Given the description of an element on the screen output the (x, y) to click on. 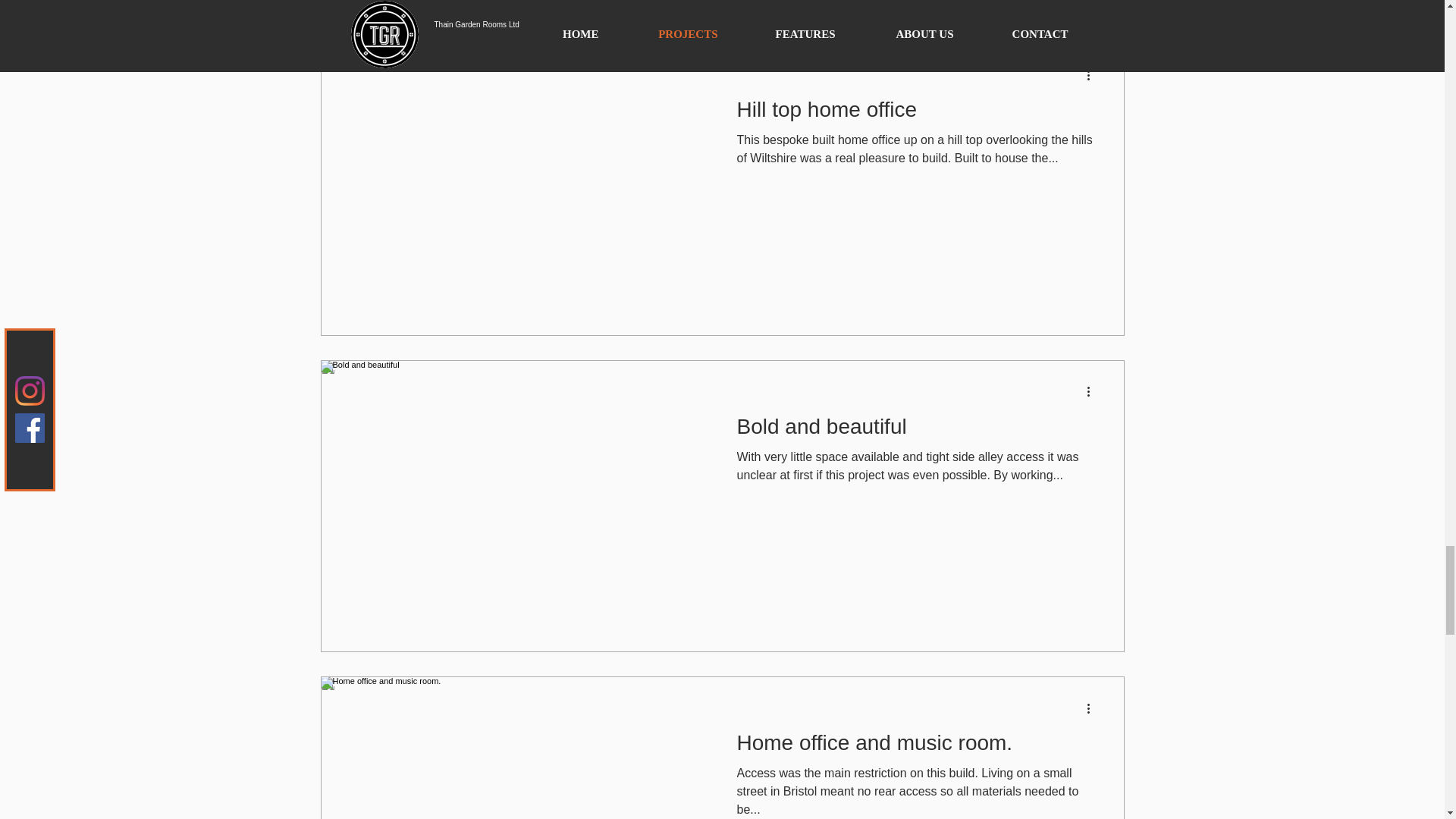
Bold and beautiful (916, 430)
Hill top home office (916, 114)
